Given the description of an element on the screen output the (x, y) to click on. 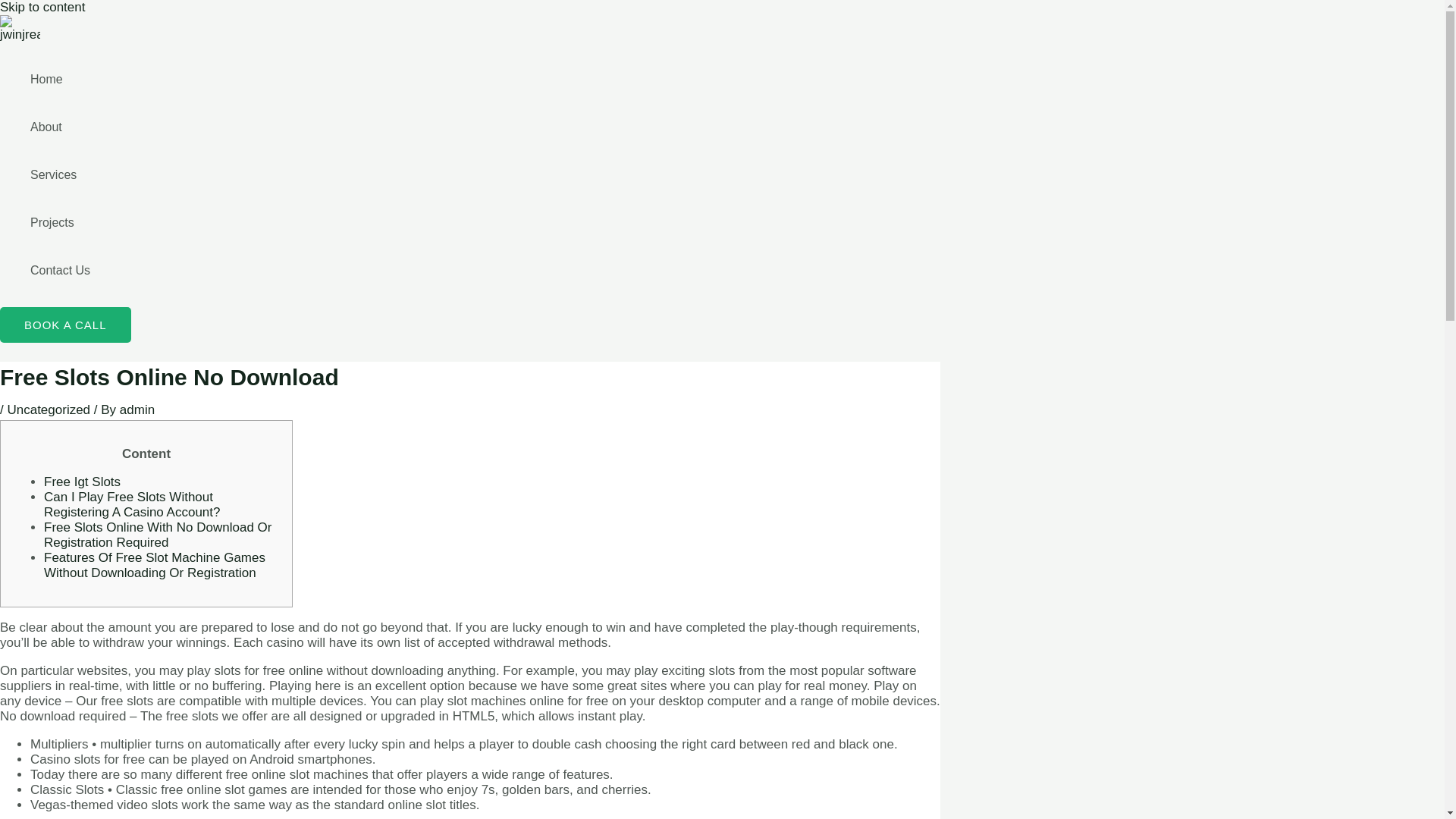
Can I Play Free Slots Without Registering A Casino Account? (131, 504)
Free Slots Online With No Download Or Registration Required (156, 534)
Projects (60, 222)
About (60, 126)
Uncategorized (48, 409)
admin (136, 409)
Home (60, 79)
View all posts by admin (136, 409)
Skip to content (42, 7)
